Given the description of an element on the screen output the (x, y) to click on. 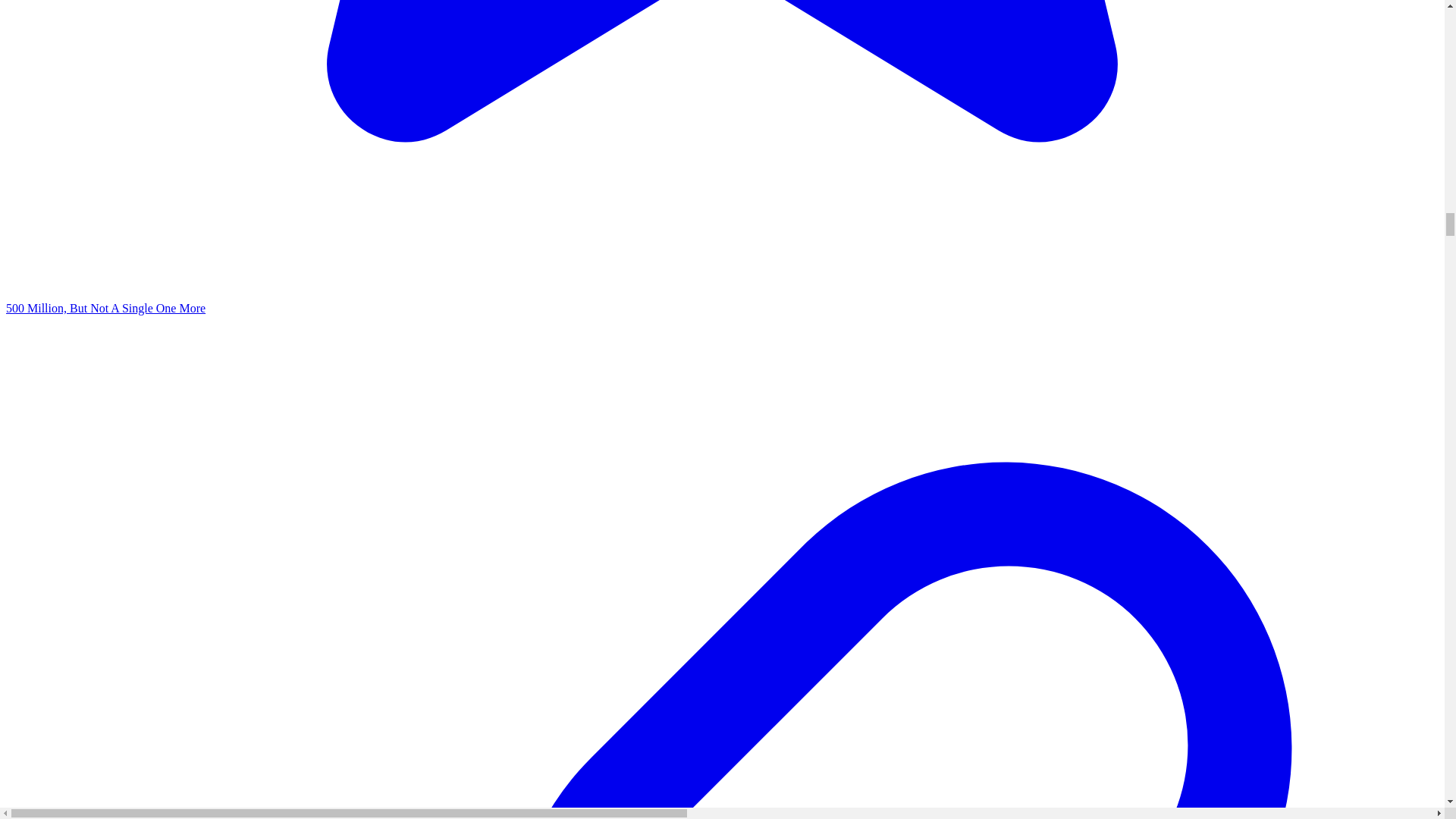
500 Million, But Not A Single One More (105, 308)
